Given the description of an element on the screen output the (x, y) to click on. 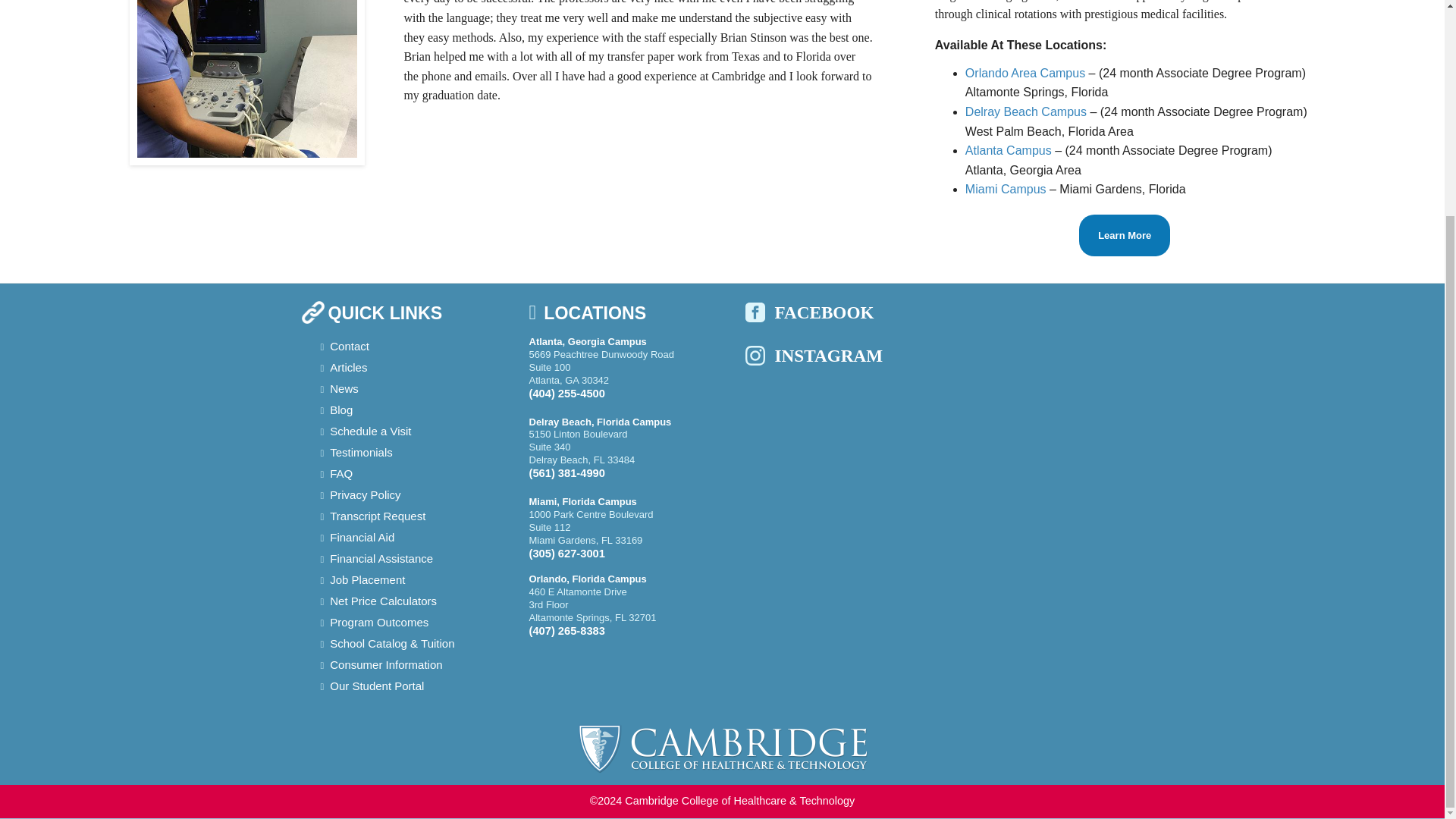
Orlando Area Campus (1024, 72)
Miami Campus (1007, 188)
Atlanta Area Campus (1008, 150)
Palm Beach Area Campus (1025, 111)
